Given the description of an element on the screen output the (x, y) to click on. 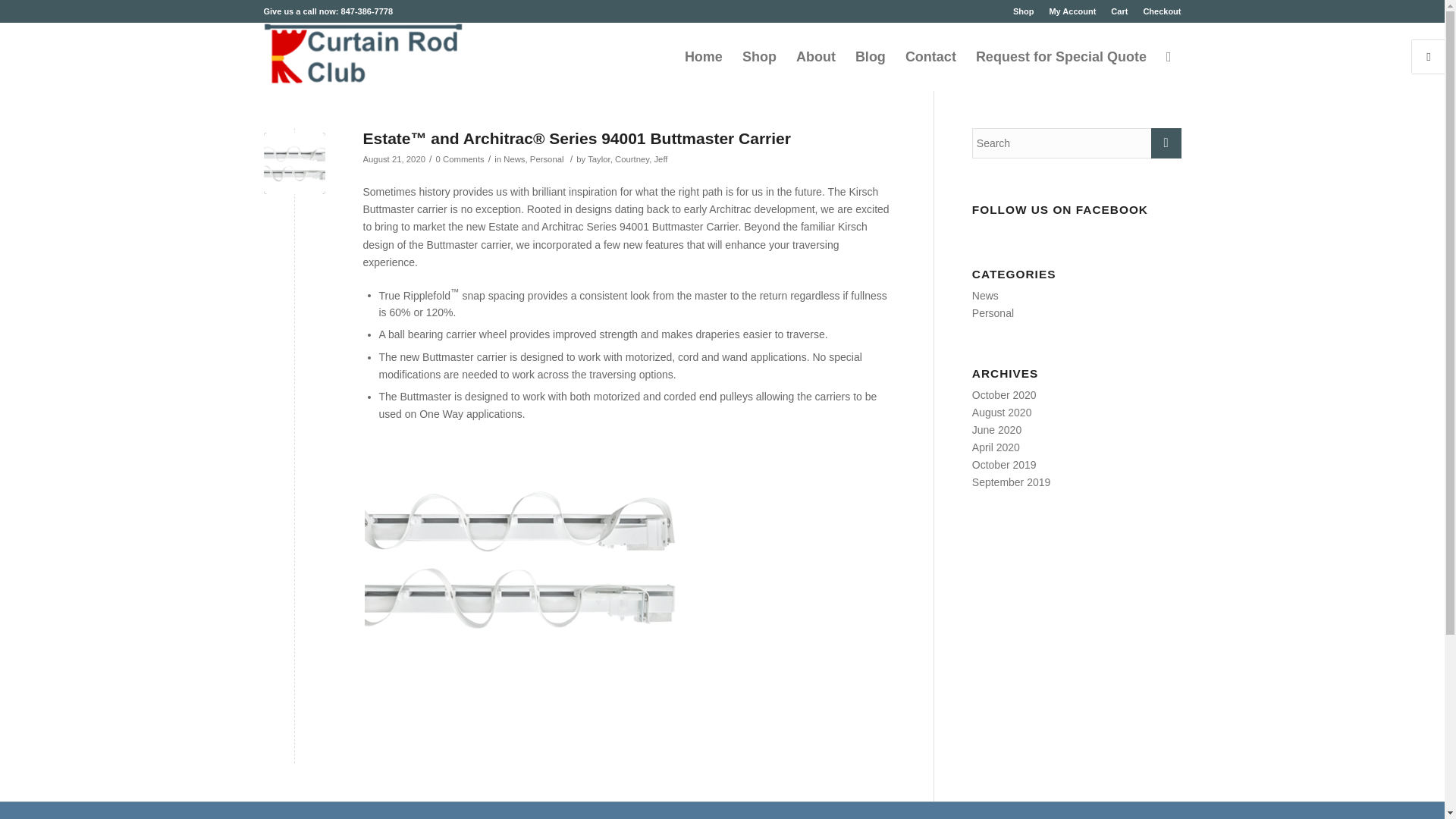
Shop (1023, 11)
Posts by Taylor, Courtney, Jeff (627, 158)
My Account (1072, 11)
Checkout (1161, 11)
94001 Buttmaster Carrier (293, 163)
